Given the description of an element on the screen output the (x, y) to click on. 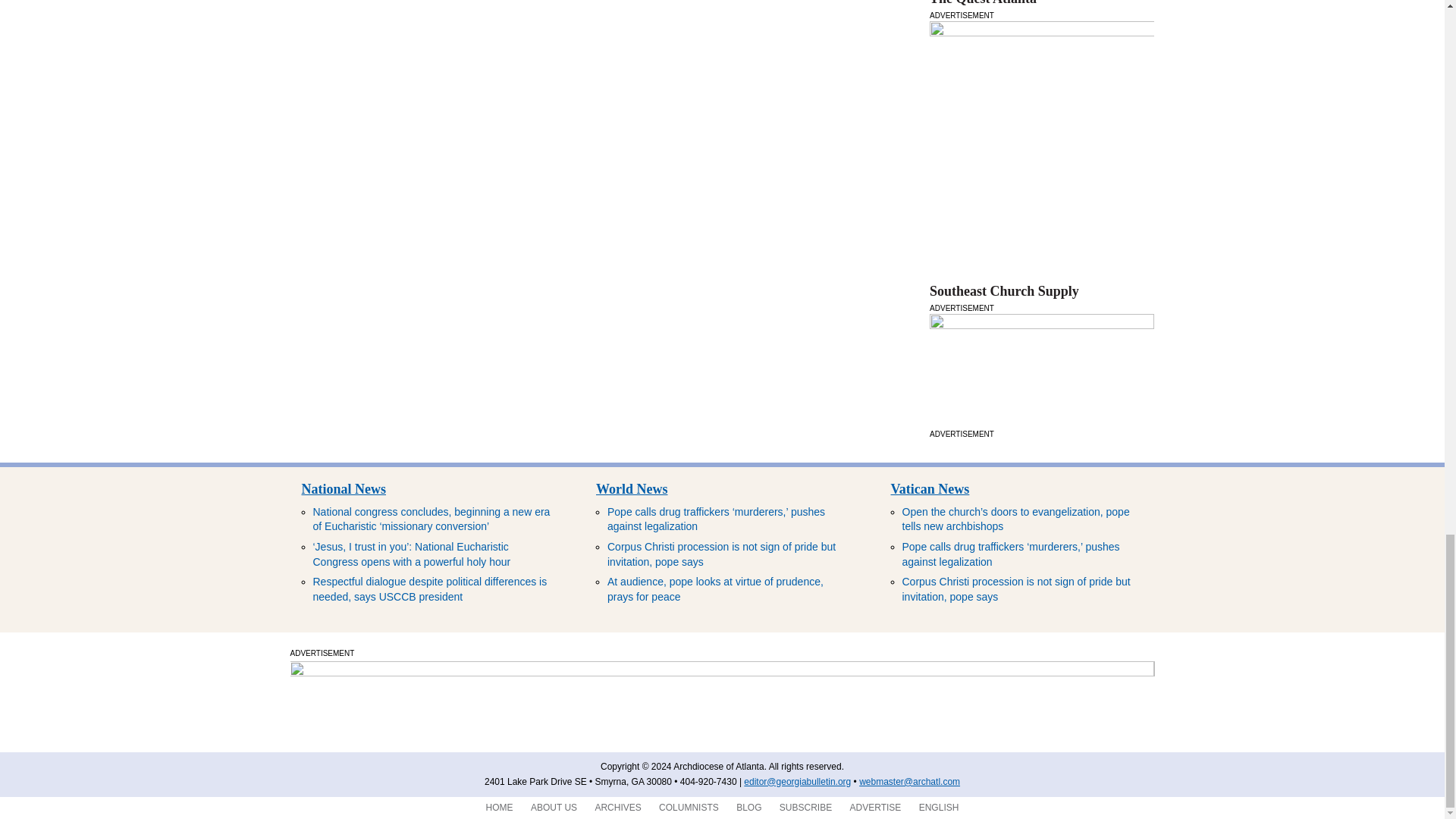
English (938, 807)
